Given the description of an element on the screen output the (x, y) to click on. 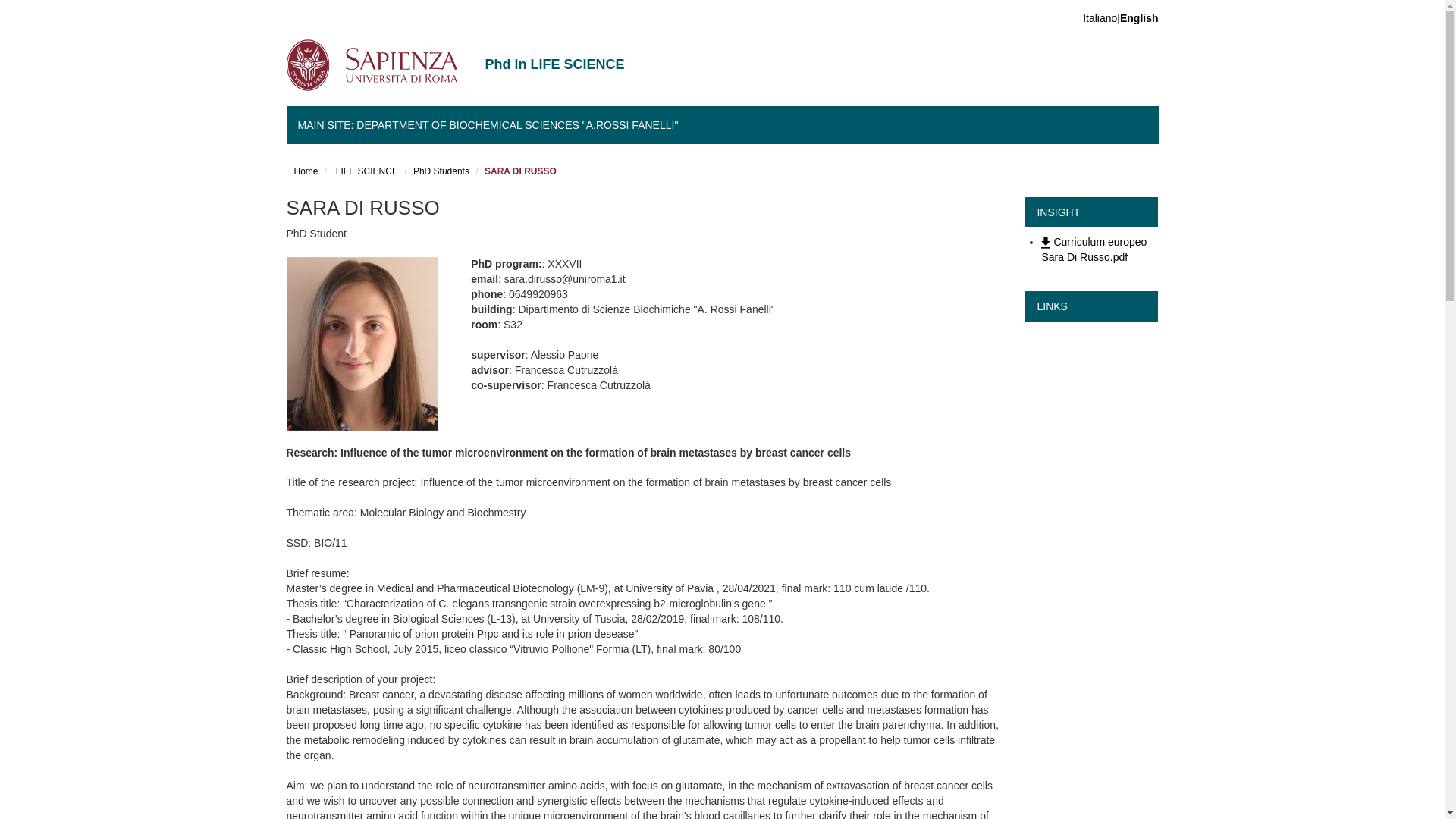
Home (306, 171)
Curriculum europeo Sara Di Russo.pdf (1094, 248)
PhD Students (440, 171)
LIFE SCIENCE (365, 171)
